Given the description of an element on the screen output the (x, y) to click on. 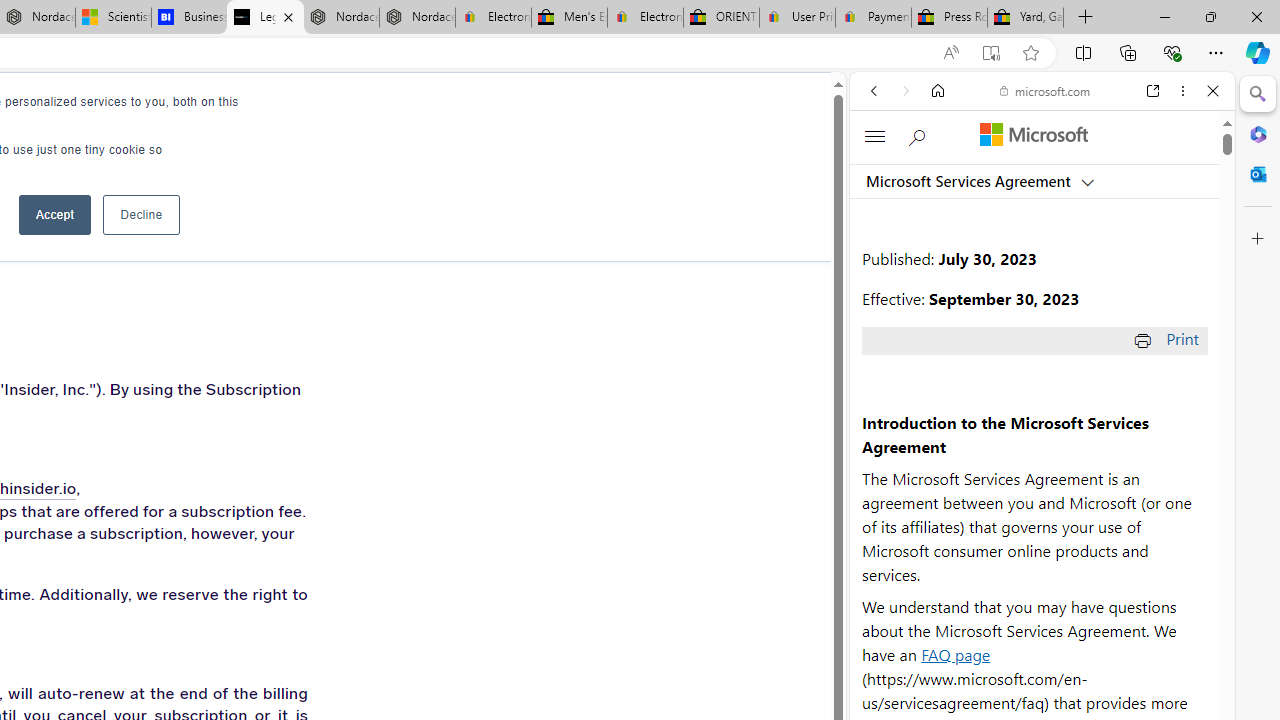
Decline (141, 214)
CAREERS (180, 110)
Search Microsoft.com (919, 136)
Payments Terms of Use | eBay.com (873, 17)
